Given the description of an element on the screen output the (x, y) to click on. 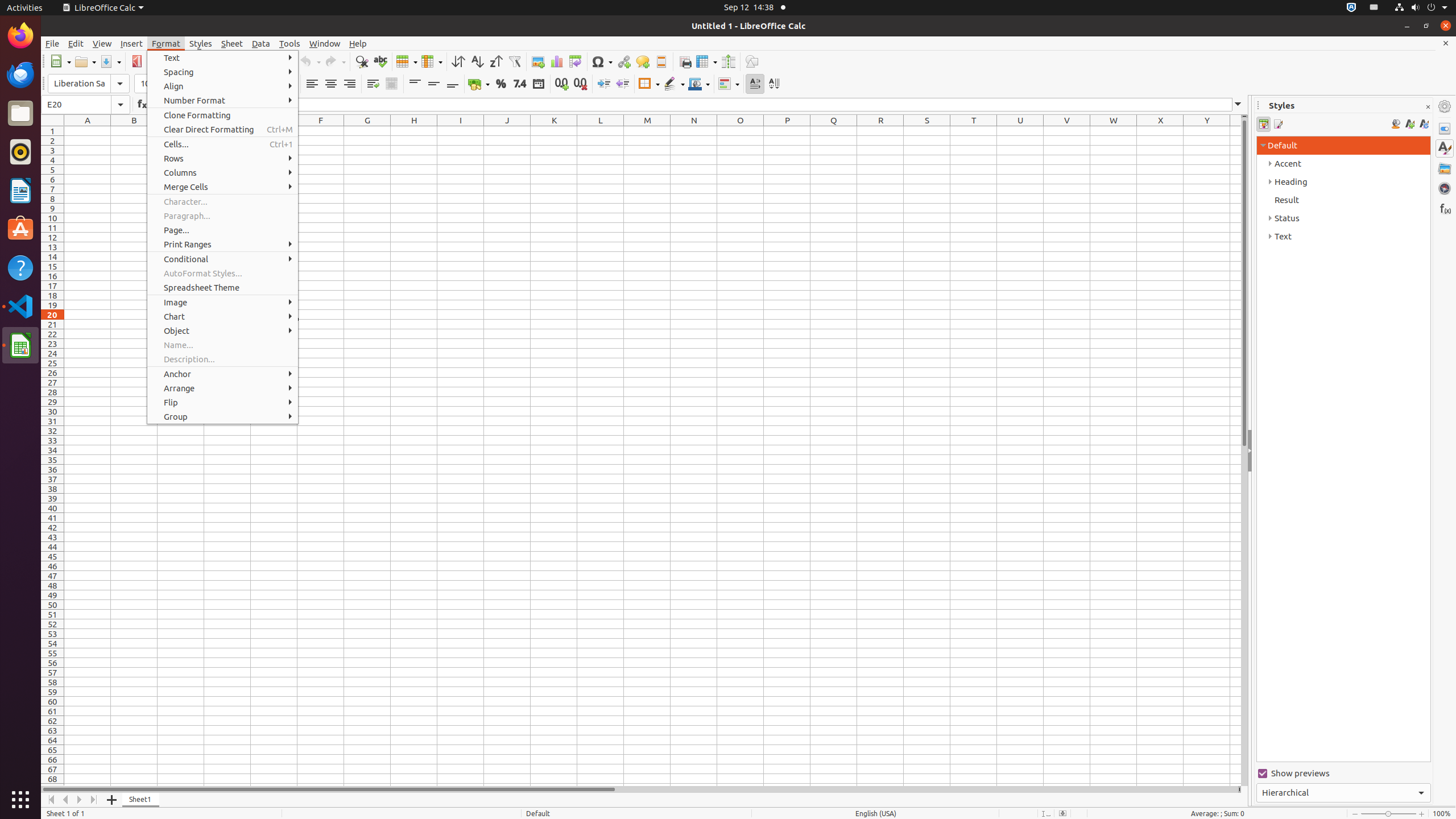
H1 Element type: table-cell (413, 130)
U1 Element type: table-cell (1020, 130)
Decrease Element type: push-button (622, 83)
Borders (Shift to overwrite) Element type: push-button (648, 83)
Move To End Element type: push-button (94, 799)
